Given the description of an element on the screen output the (x, y) to click on. 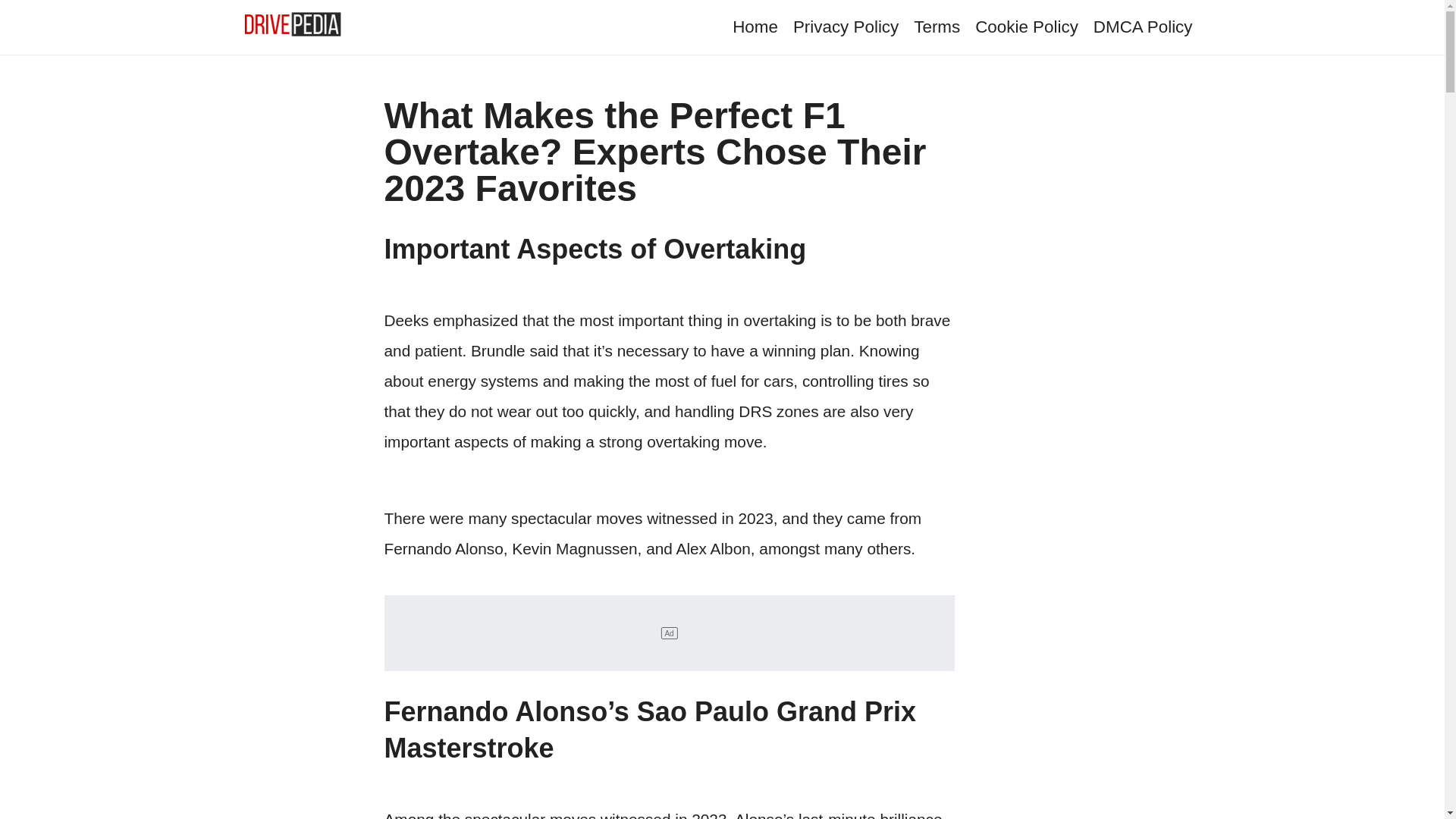
Terms (936, 26)
Home (754, 26)
Cookie Policy (1026, 26)
Privacy Policy (845, 26)
DMCA Policy (1142, 26)
